Given the description of an element on the screen output the (x, y) to click on. 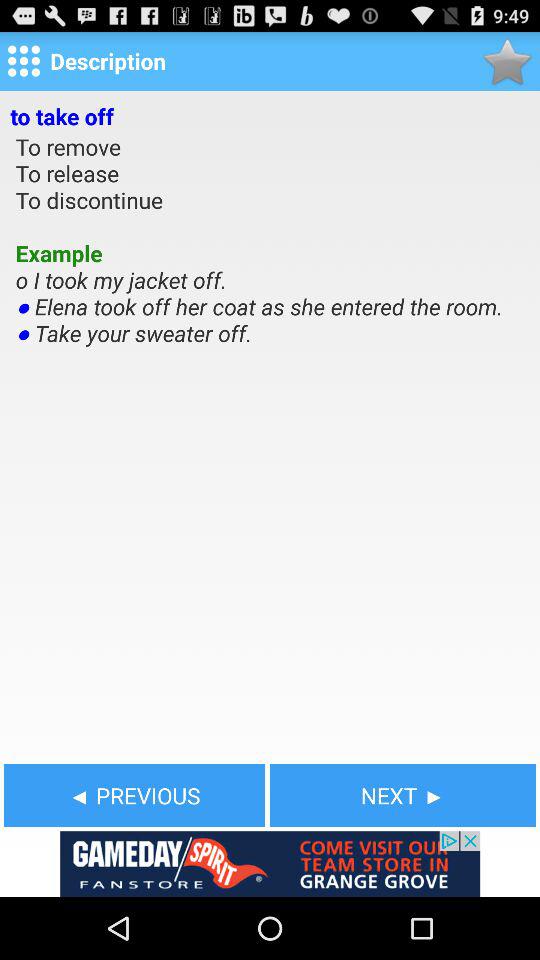
fovread (506, 60)
